Given the description of an element on the screen output the (x, y) to click on. 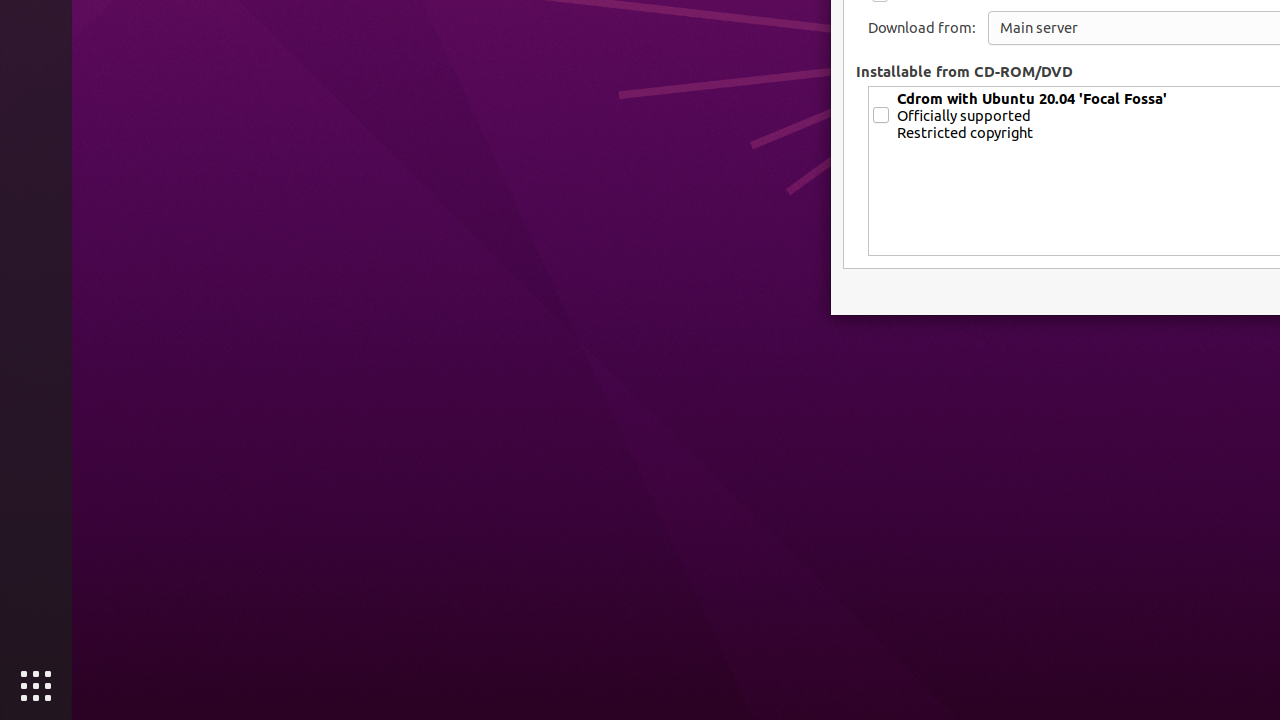
Installable from CD-ROM/DVD Element type: label (964, 71)
Download from: Element type: label (922, 28)
